Given the description of an element on the screen output the (x, y) to click on. 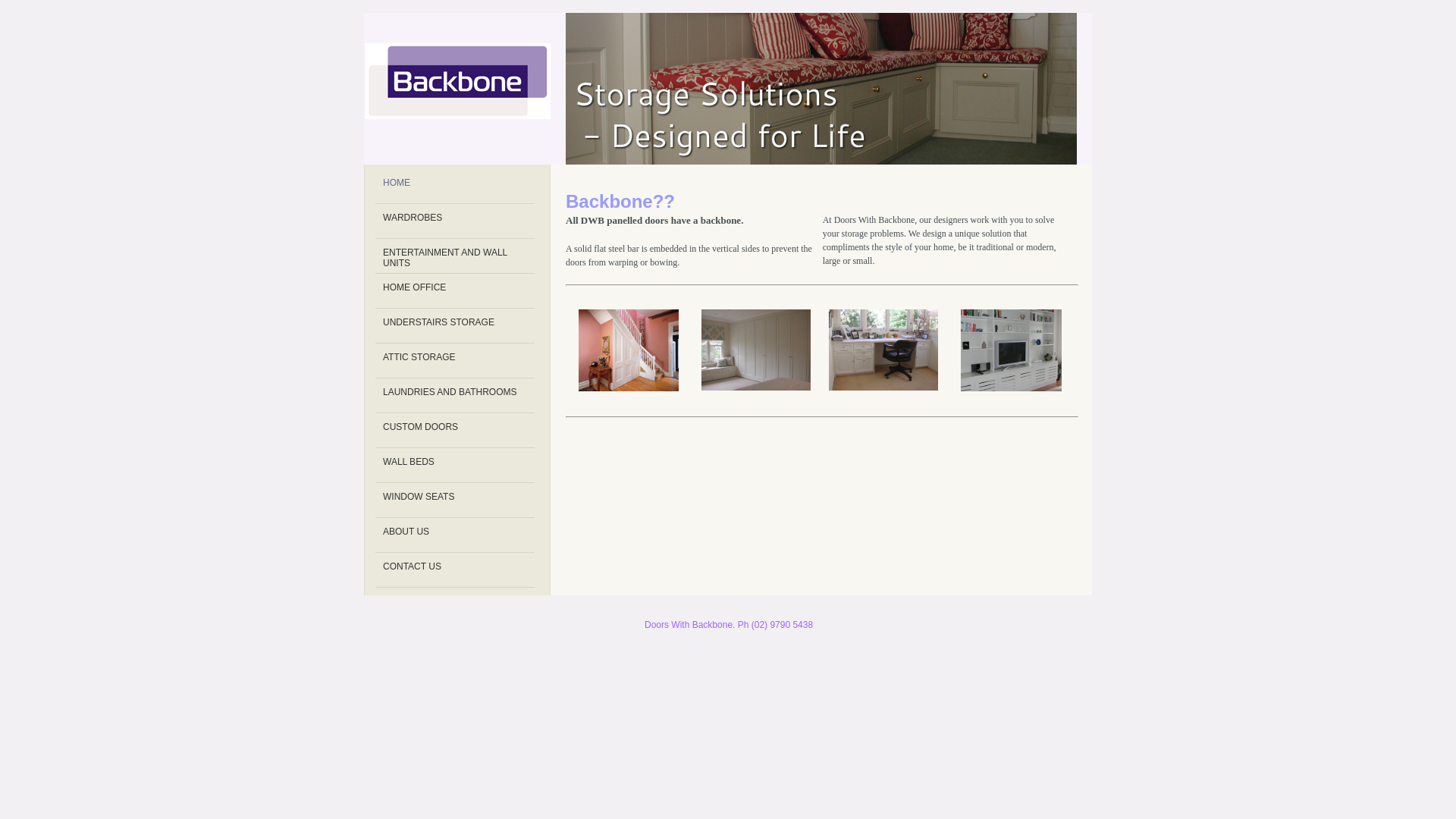
CONTACT US Element type: text (454, 569)
CUSTOM DOORS Element type: text (454, 430)
HOME Element type: text (454, 186)
ABOUT US Element type: text (454, 534)
UNDERSTAIRS STORAGE Element type: text (454, 325)
WALL BEDS Element type: text (454, 465)
WINDOW SEATS Element type: text (454, 500)
WARDROBES Element type: text (454, 220)
LAUNDRIES AND BATHROOMS Element type: text (454, 395)
ENTERTAINMENT AND WALL UNITS Element type: text (454, 255)
ATTIC STORAGE Element type: text (454, 360)
HOME OFFICE Element type: text (454, 290)
